Given the description of an element on the screen output the (x, y) to click on. 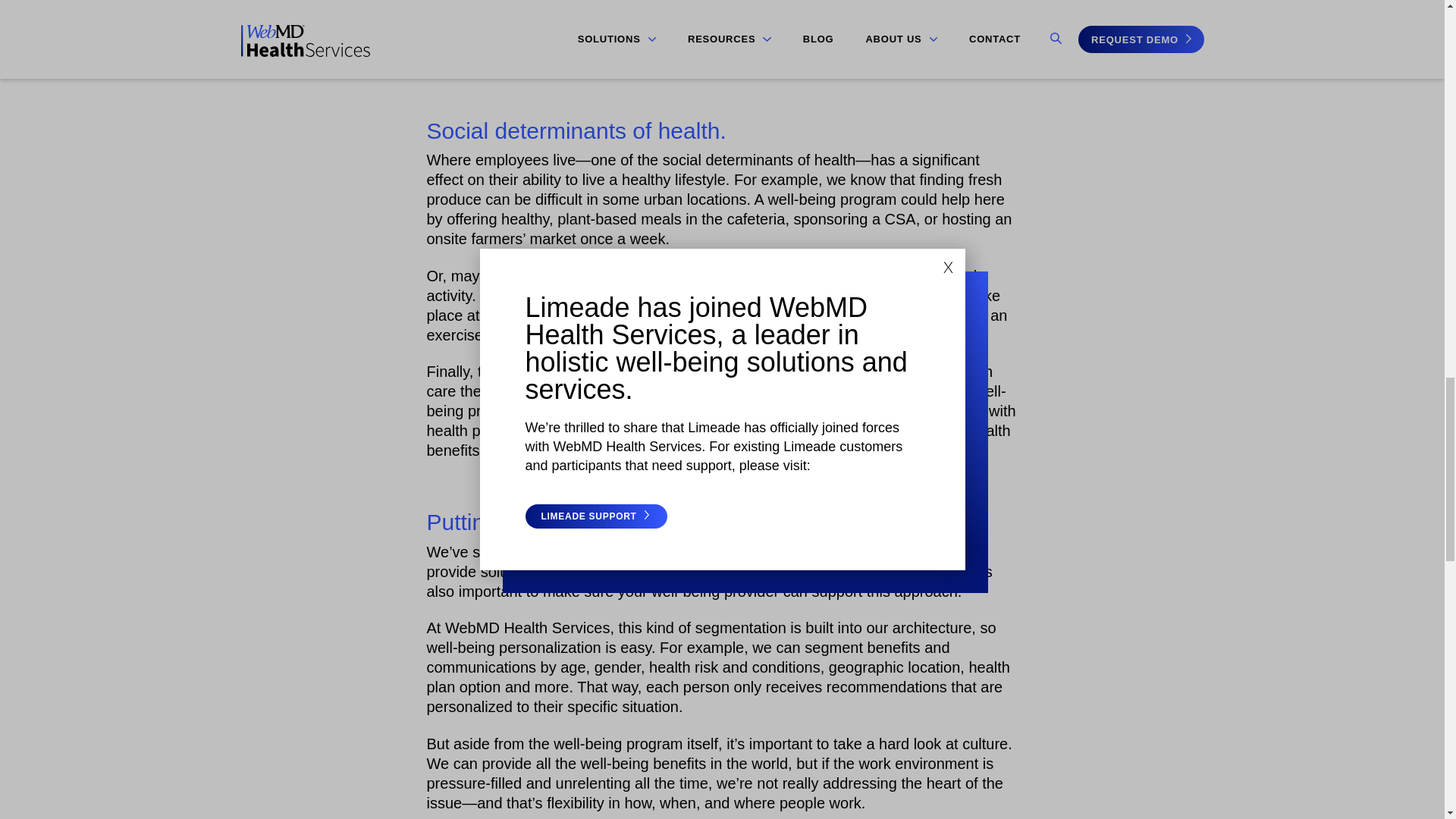
workplace well-being program examples (699, 552)
mental health challenge (608, 58)
